Given the description of an element on the screen output the (x, y) to click on. 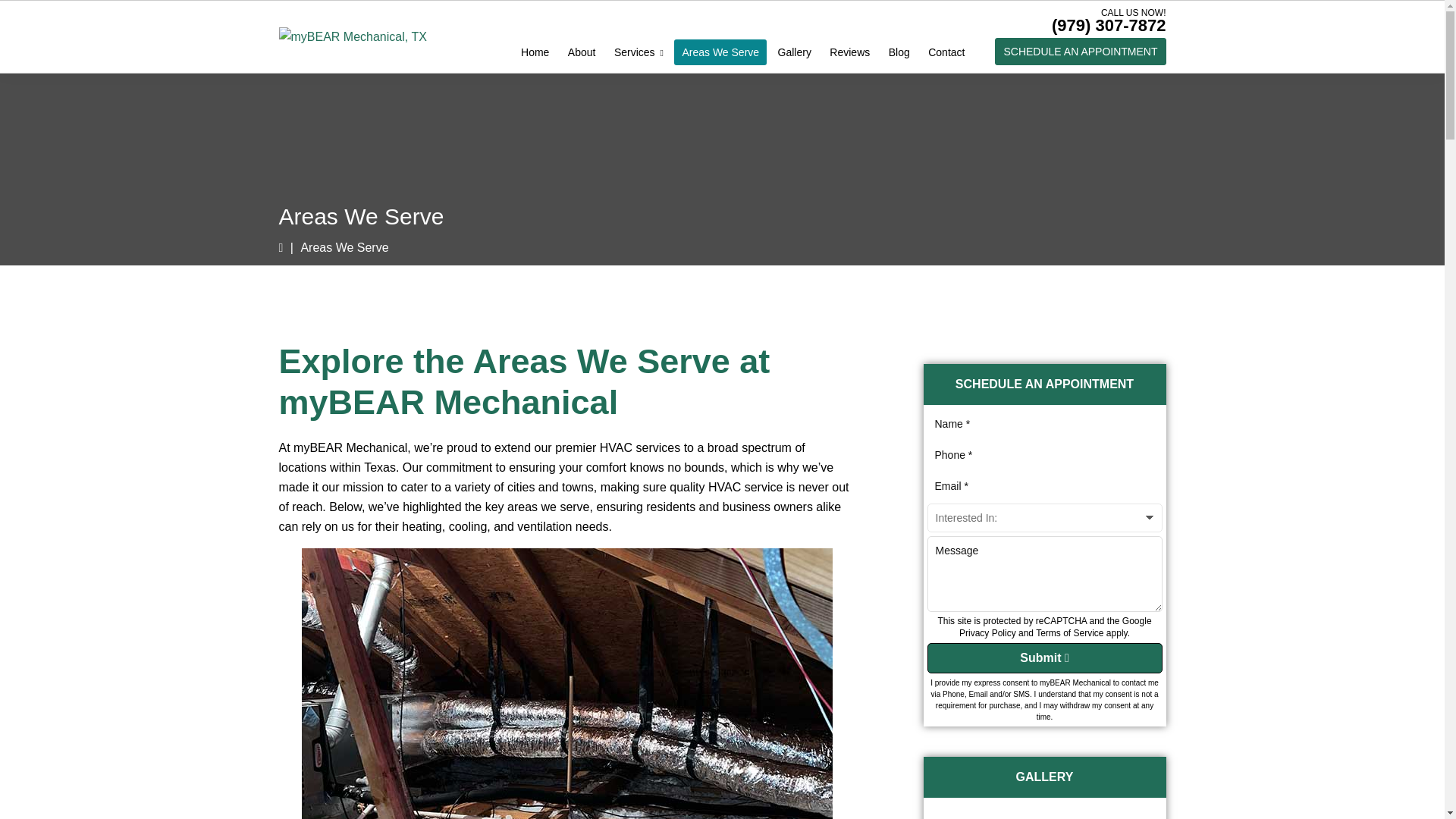
Contact (946, 52)
Services (639, 52)
Submit (1043, 657)
Gallery (794, 52)
Privacy Policy (987, 633)
Home (534, 52)
Terms of Service (1069, 633)
Reviews (849, 52)
Areas We Serve (720, 52)
